Given the description of an element on the screen output the (x, y) to click on. 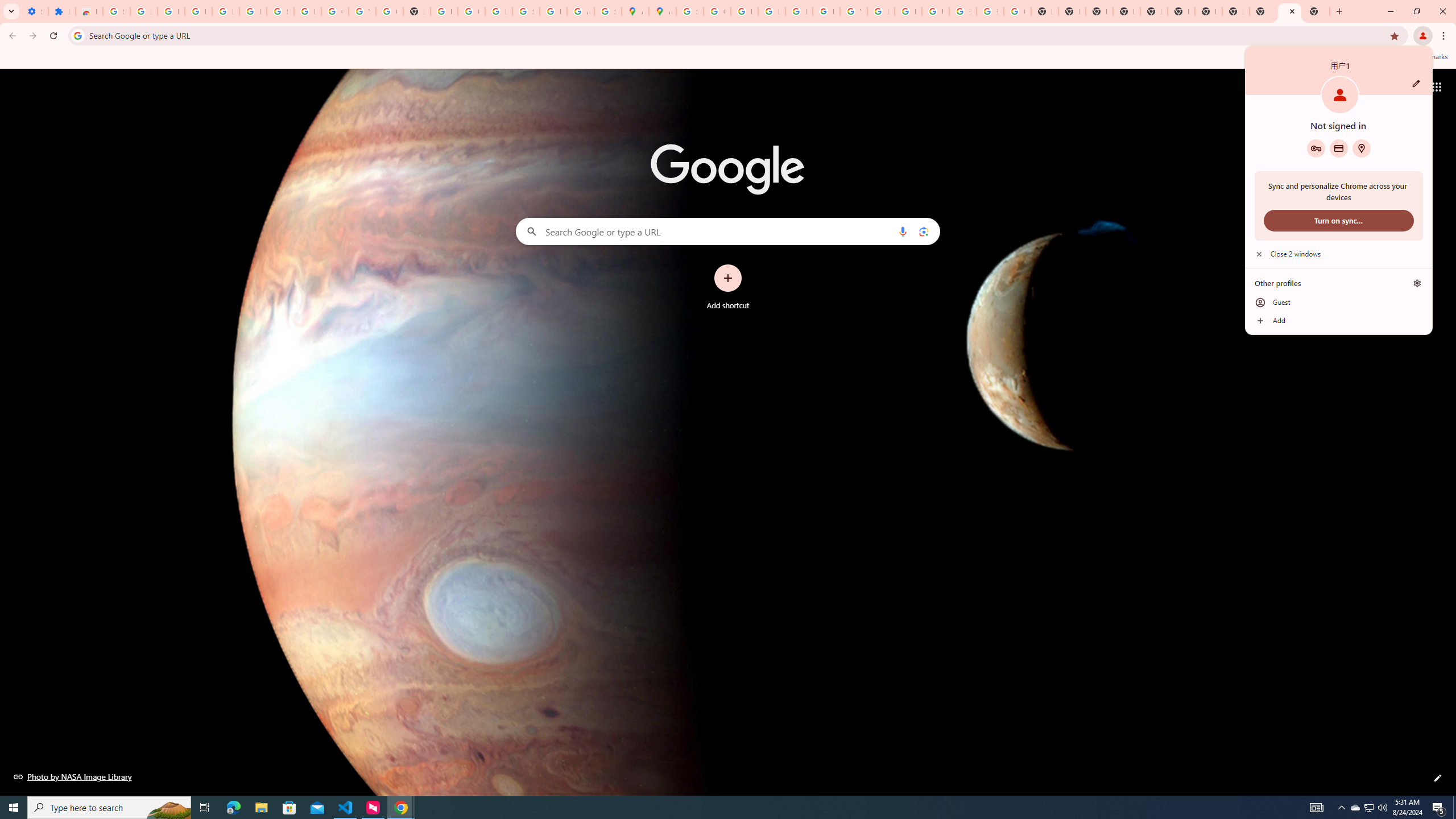
Type here to search (108, 807)
AutomationID: 4105 (1316, 807)
